Given the description of an element on the screen output the (x, y) to click on. 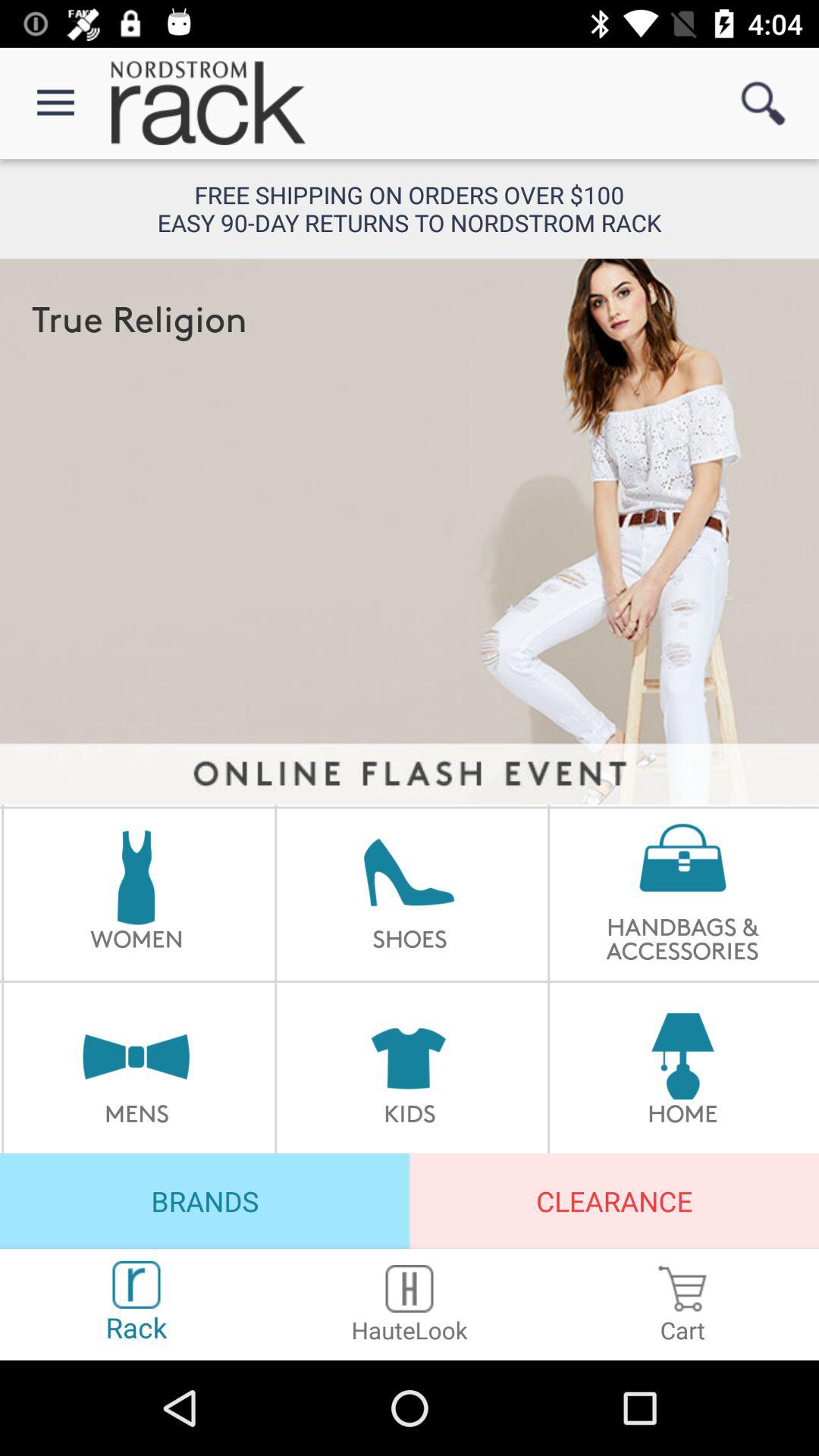
click item next to free shipping on icon (763, 103)
